Given the description of an element on the screen output the (x, y) to click on. 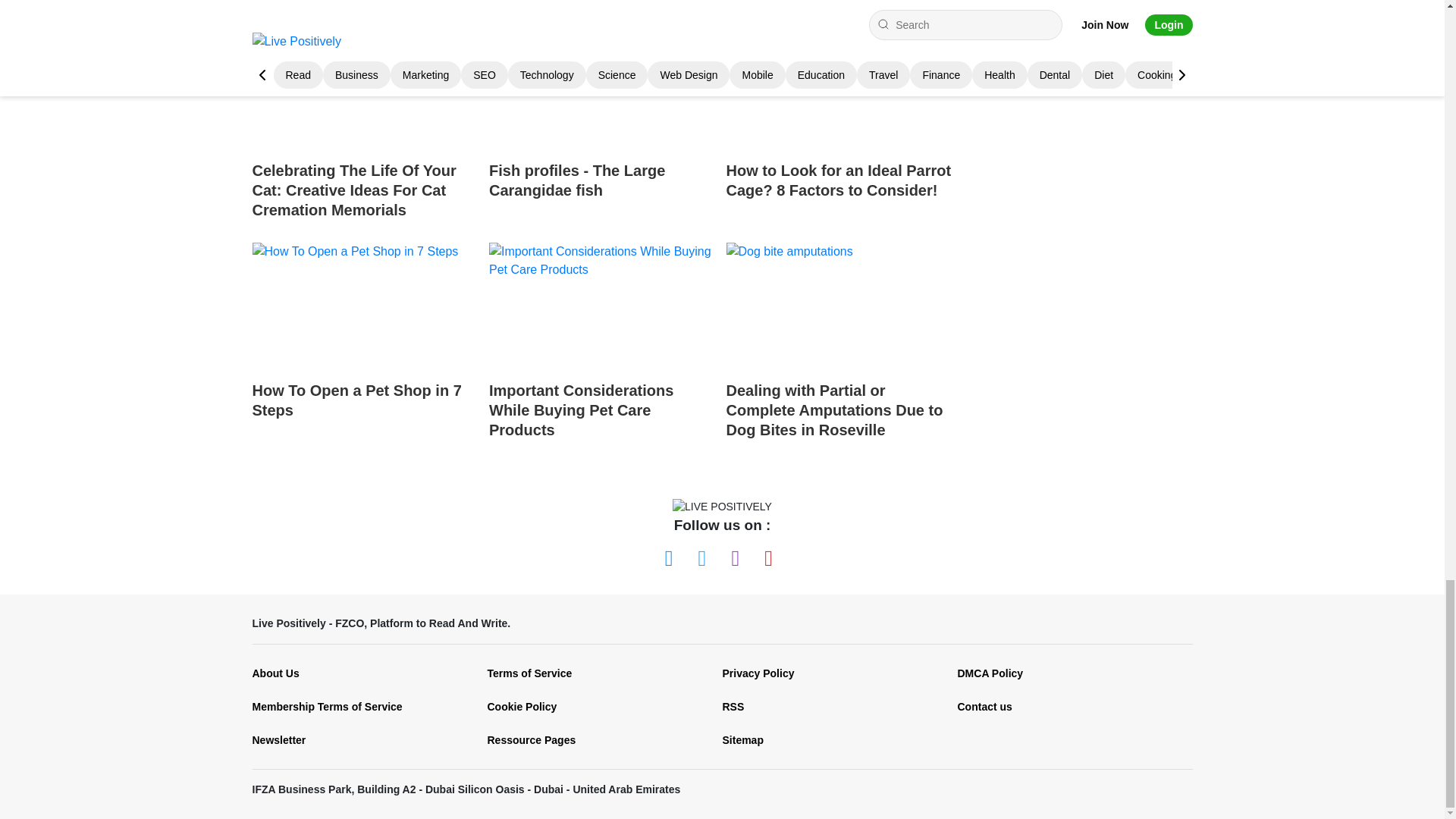
How to Look for an Ideal Parrot Cage? 8 Factors to Consider! (839, 85)
The Large Carangidae fish (601, 85)
Dog bite amputations (839, 305)
How To Open a Pet Shop in 7 Steps (364, 344)
How To Open a Pet Shop in 7 Steps (364, 305)
Important Considerations While Buying Pet Care Products (601, 305)
Important Considerations While Buying Pet Care Products (601, 344)
Fish profiles - The Large Carangidae fish (601, 124)
